Given the description of an element on the screen output the (x, y) to click on. 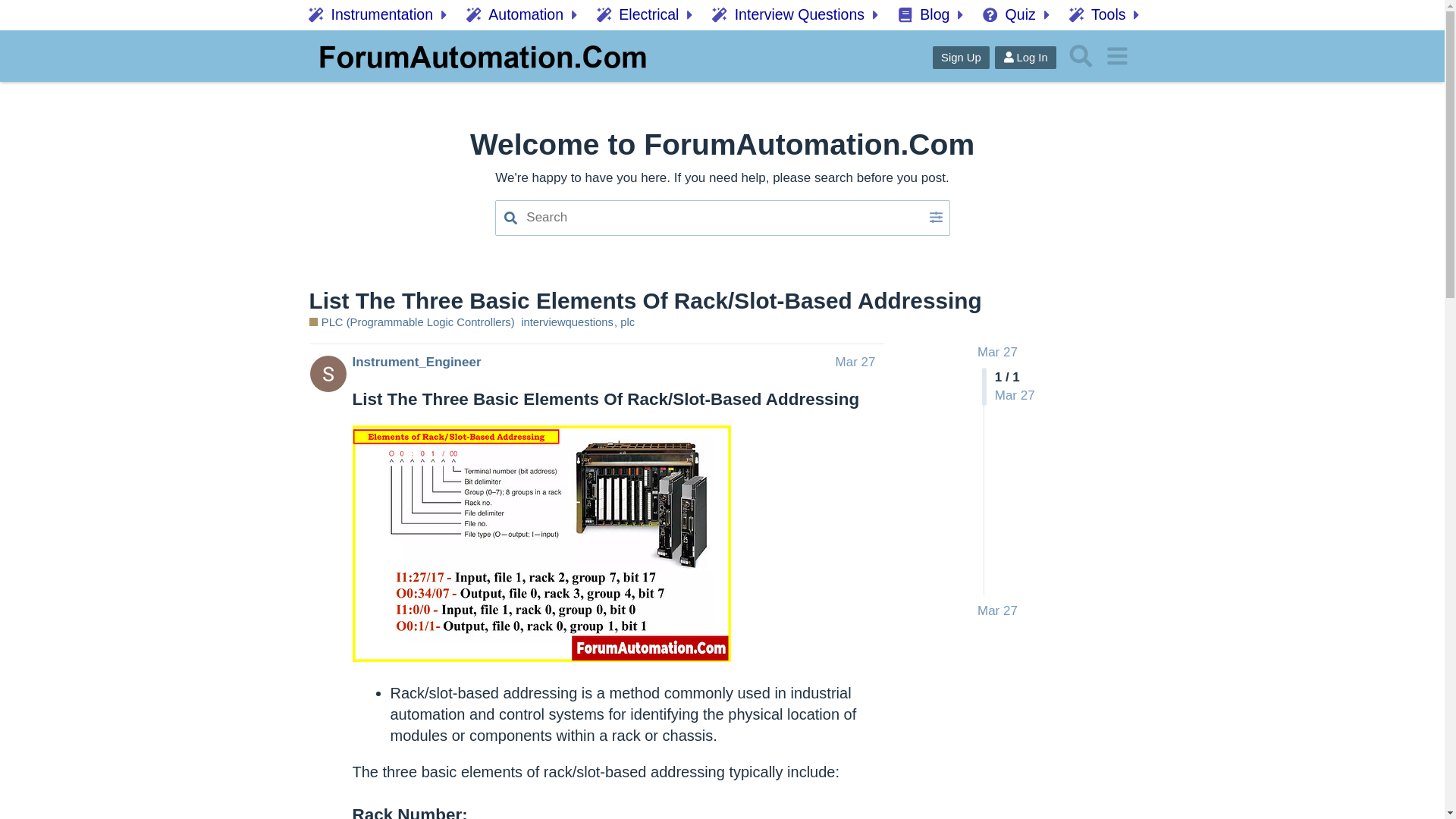
Instrumentation (380, 15)
Electrical (646, 15)
Automation (523, 15)
Blog (932, 15)
Industrial Automation (523, 15)
Instrumentation Engineering (380, 15)
Interview Questions (797, 15)
